Given the description of an element on the screen output the (x, y) to click on. 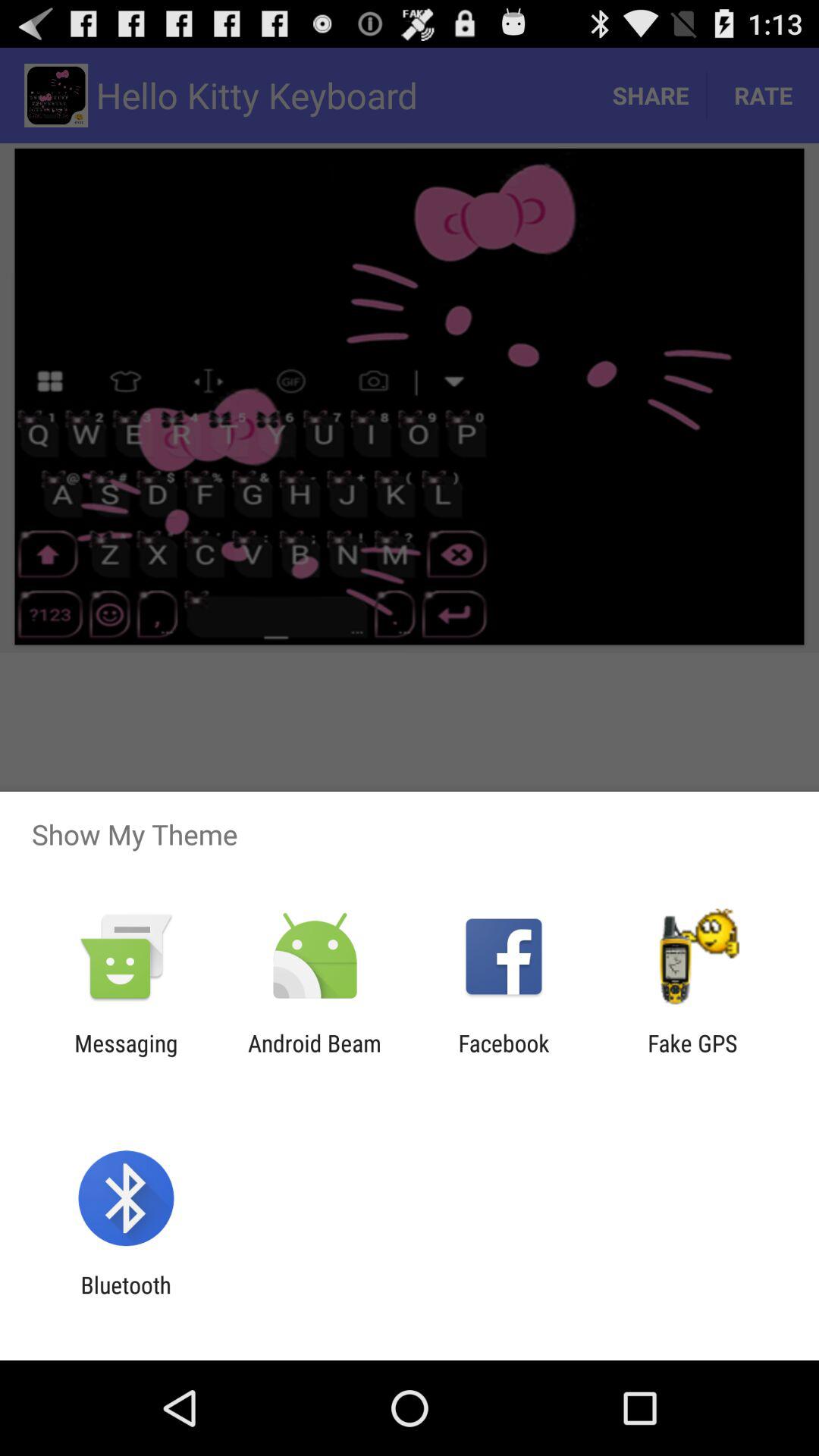
press icon to the left of android beam (126, 1056)
